Given the description of an element on the screen output the (x, y) to click on. 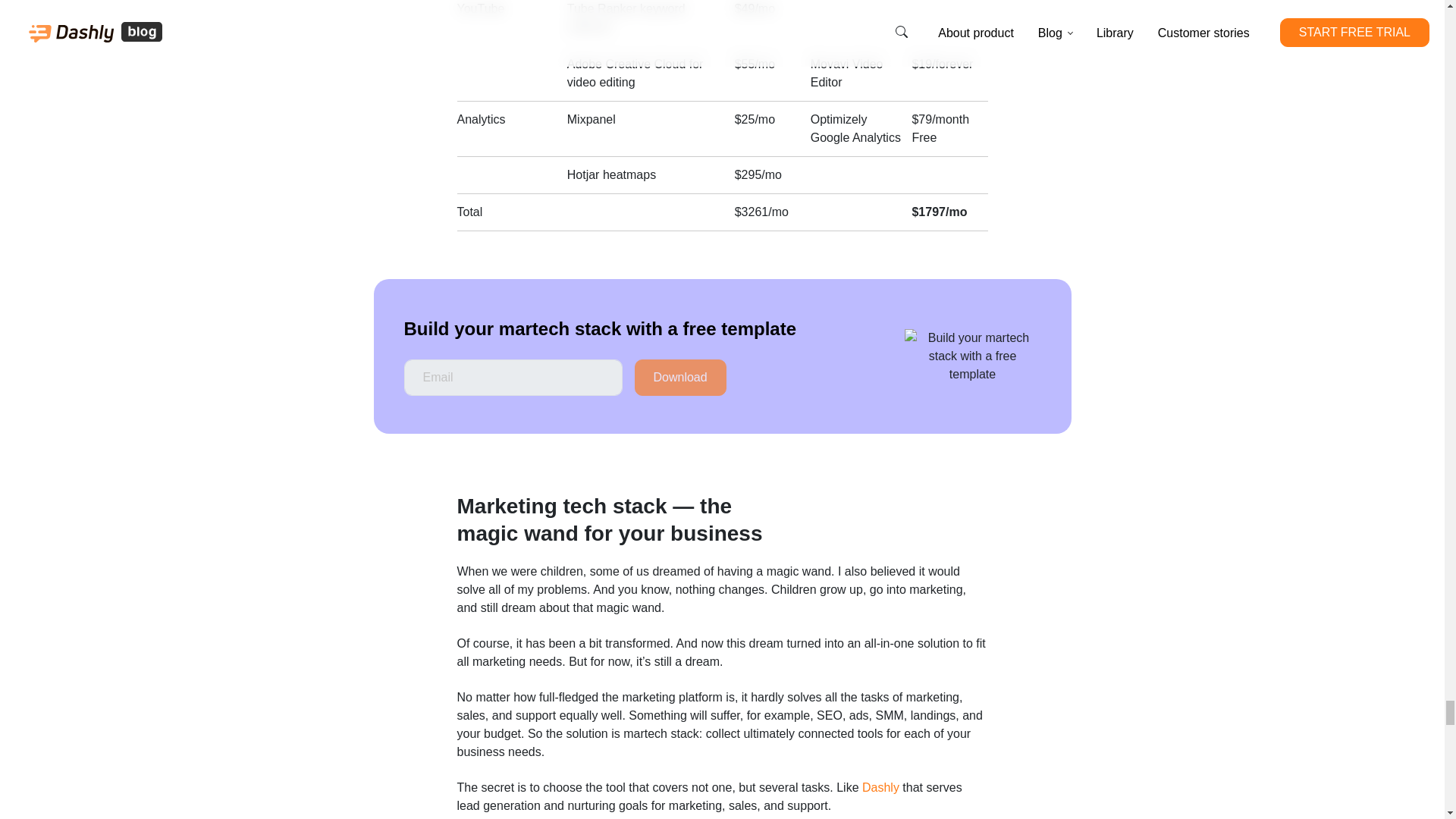
Download (679, 377)
